Given the description of an element on the screen output the (x, y) to click on. 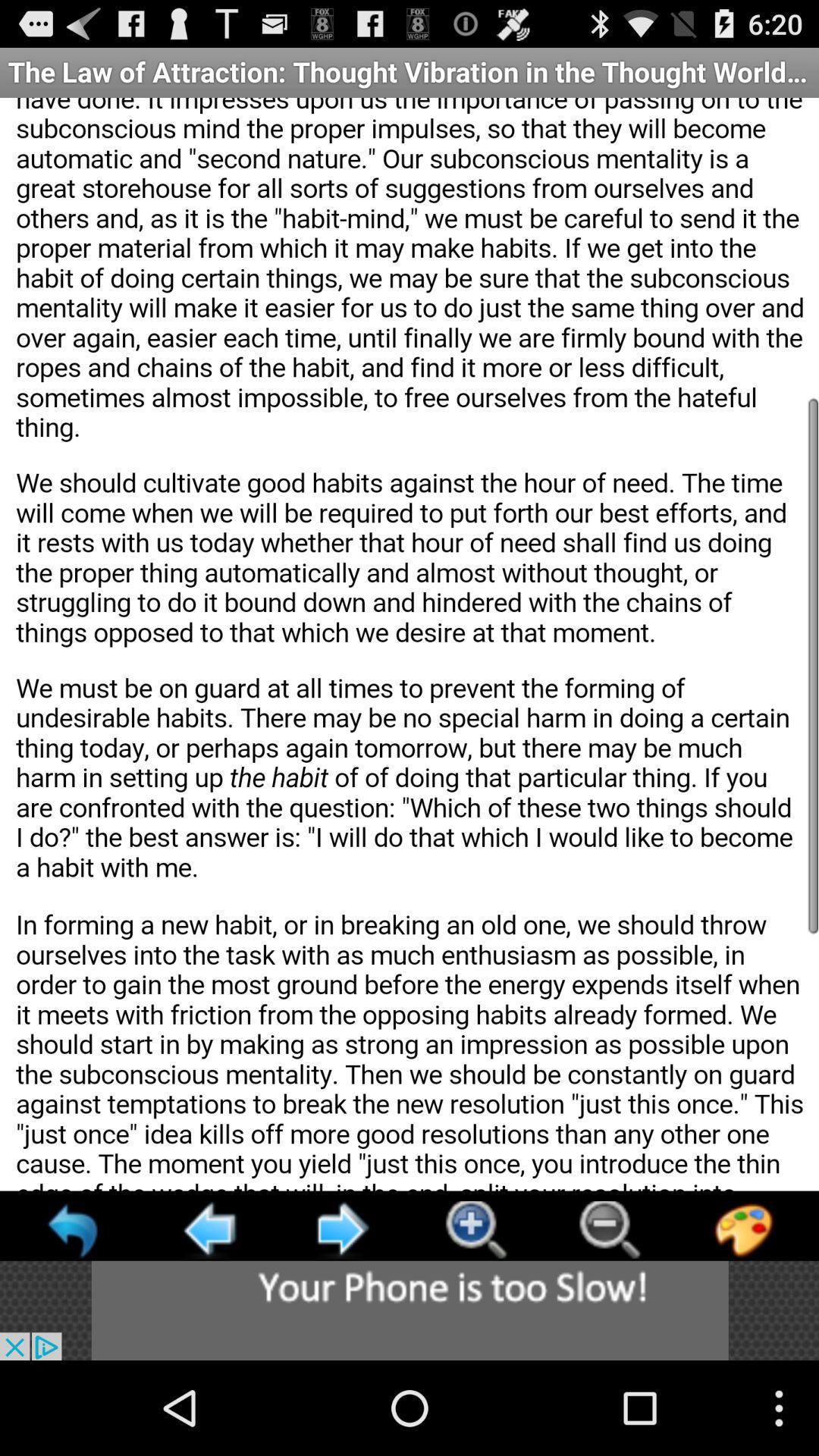
reduce image (609, 1229)
